Given the description of an element on the screen output the (x, y) to click on. 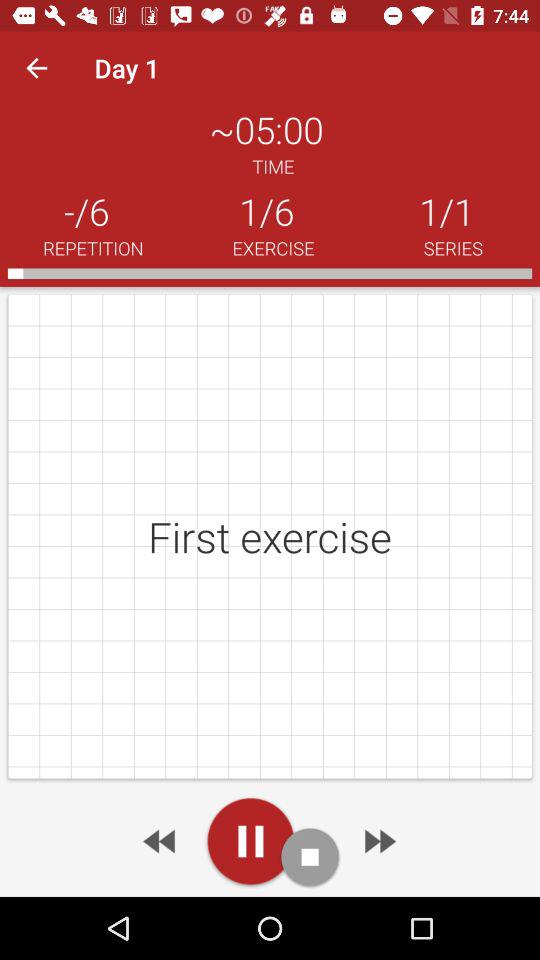
end exercice (309, 856)
